Given the description of an element on the screen output the (x, y) to click on. 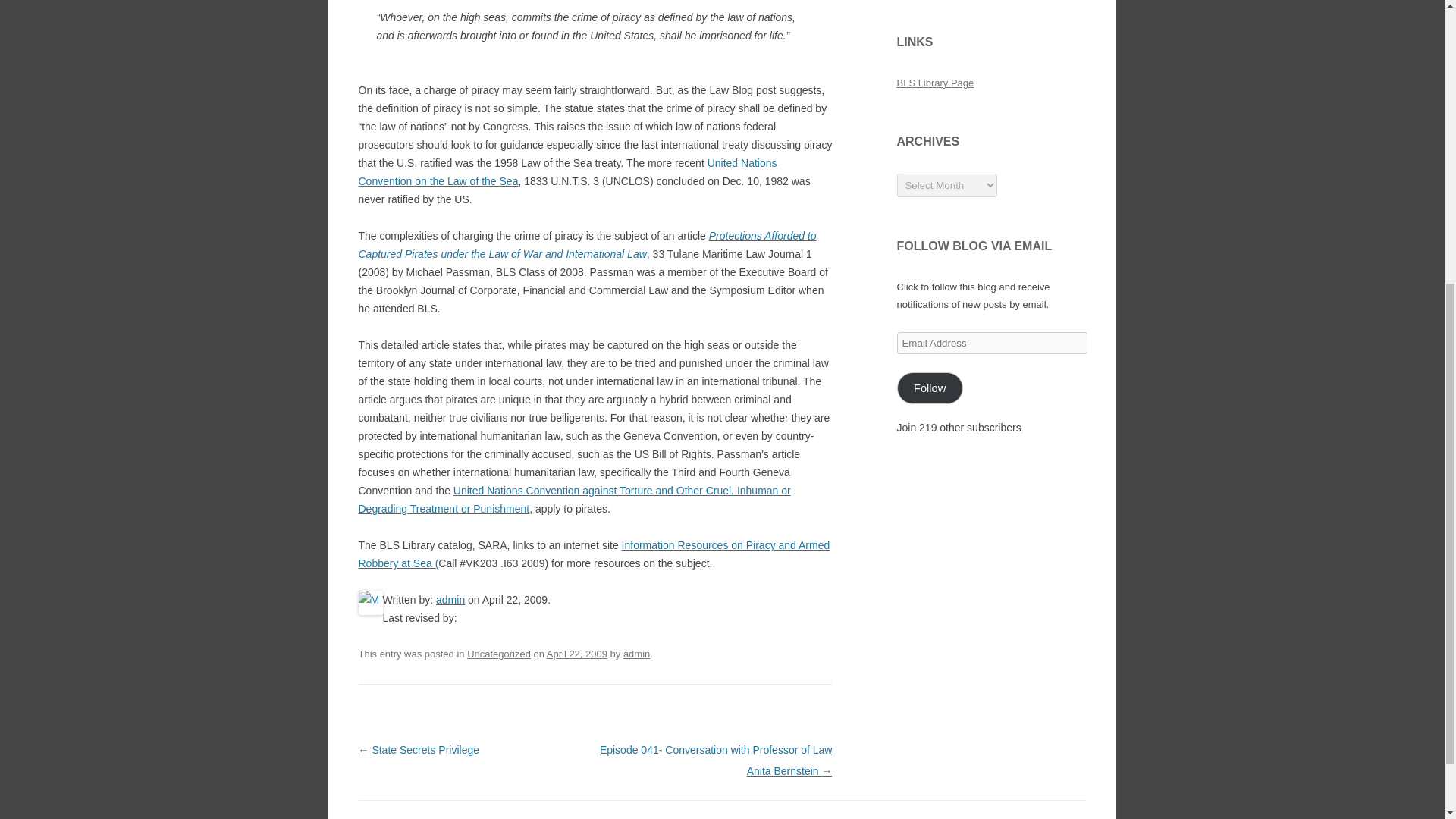
admin (449, 599)
April 22, 2009 (577, 654)
Follow (929, 388)
admin (636, 654)
BLS Library Page (935, 82)
Uncategorized (499, 654)
More about admin  (449, 599)
United Nations Convention on the Law of the Sea (567, 172)
